Given the description of an element on the screen output the (x, y) to click on. 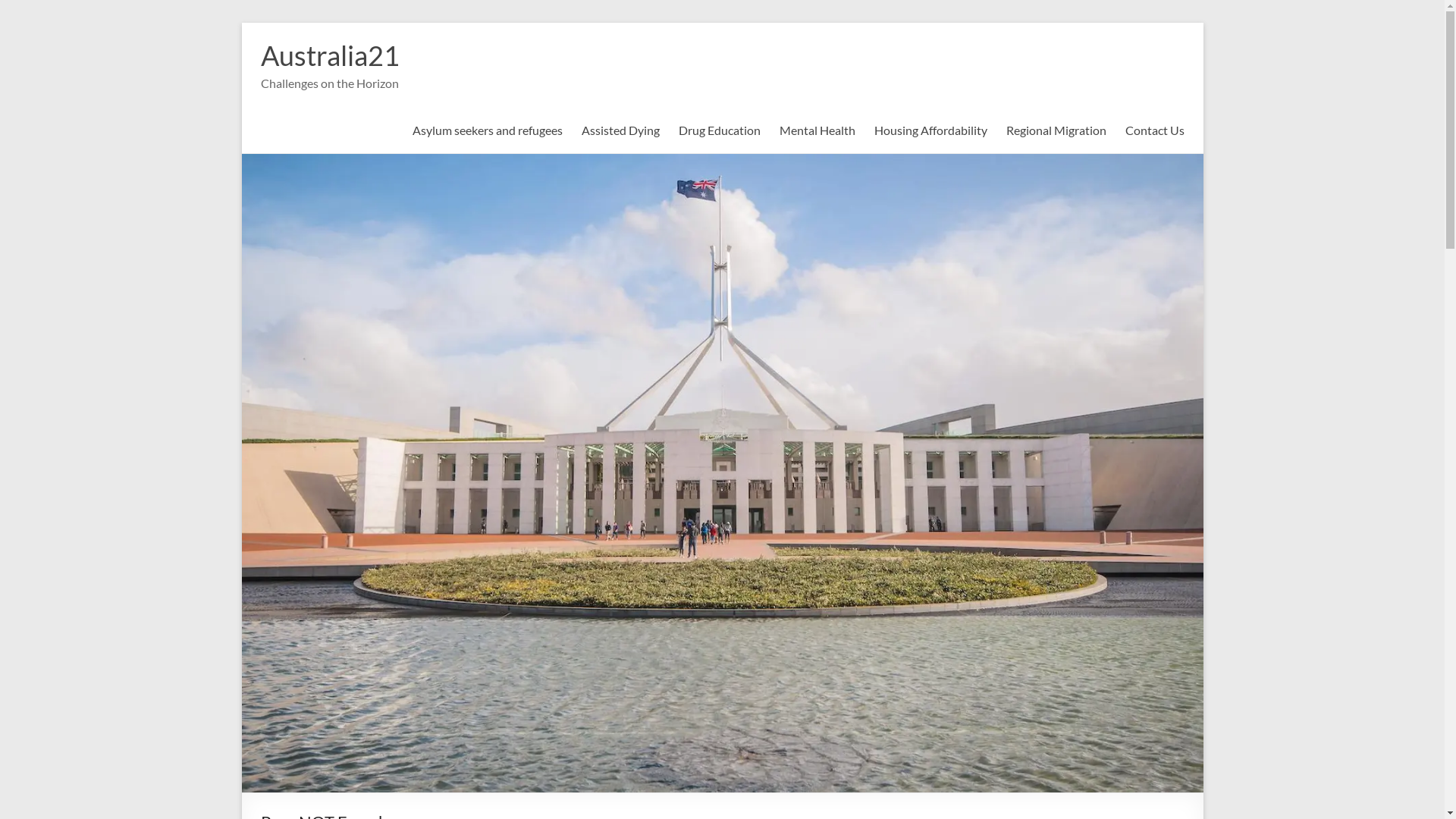
Skip to content Element type: text (241, 21)
Mental Health Element type: text (817, 130)
Contact Us Element type: text (1154, 130)
Asylum seekers and refugees Element type: text (487, 130)
Housing Affordability Element type: text (929, 130)
Australia21 Element type: text (329, 55)
Assisted Dying Element type: text (619, 130)
Drug Education Element type: text (718, 130)
Regional Migration Element type: text (1055, 130)
